Given the description of an element on the screen output the (x, y) to click on. 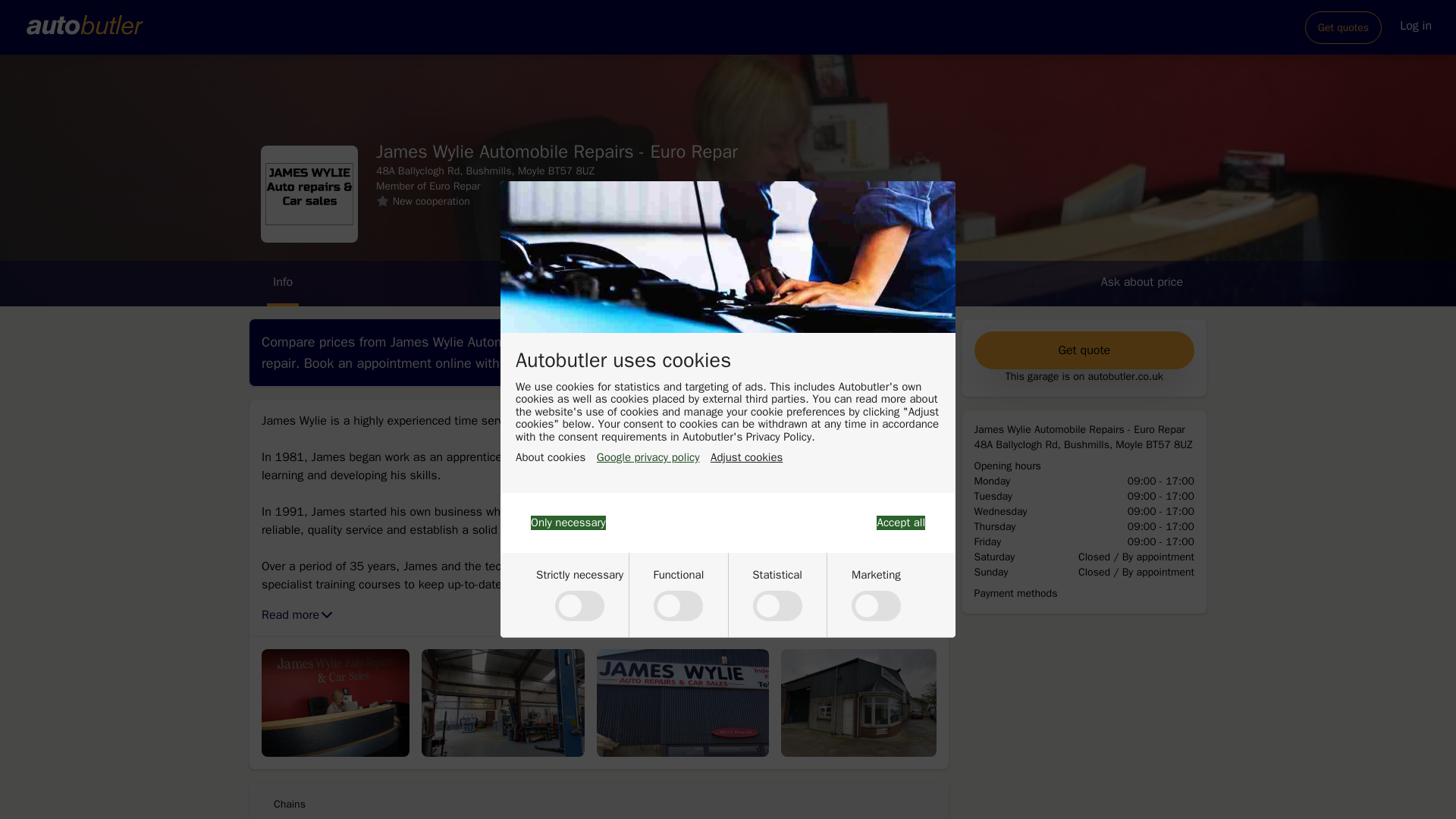
Only necessary (568, 522)
About cookies (550, 457)
Accept all (900, 522)
Google privacy policy (648, 457)
Adjust cookies (746, 457)
